Given the description of an element on the screen output the (x, y) to click on. 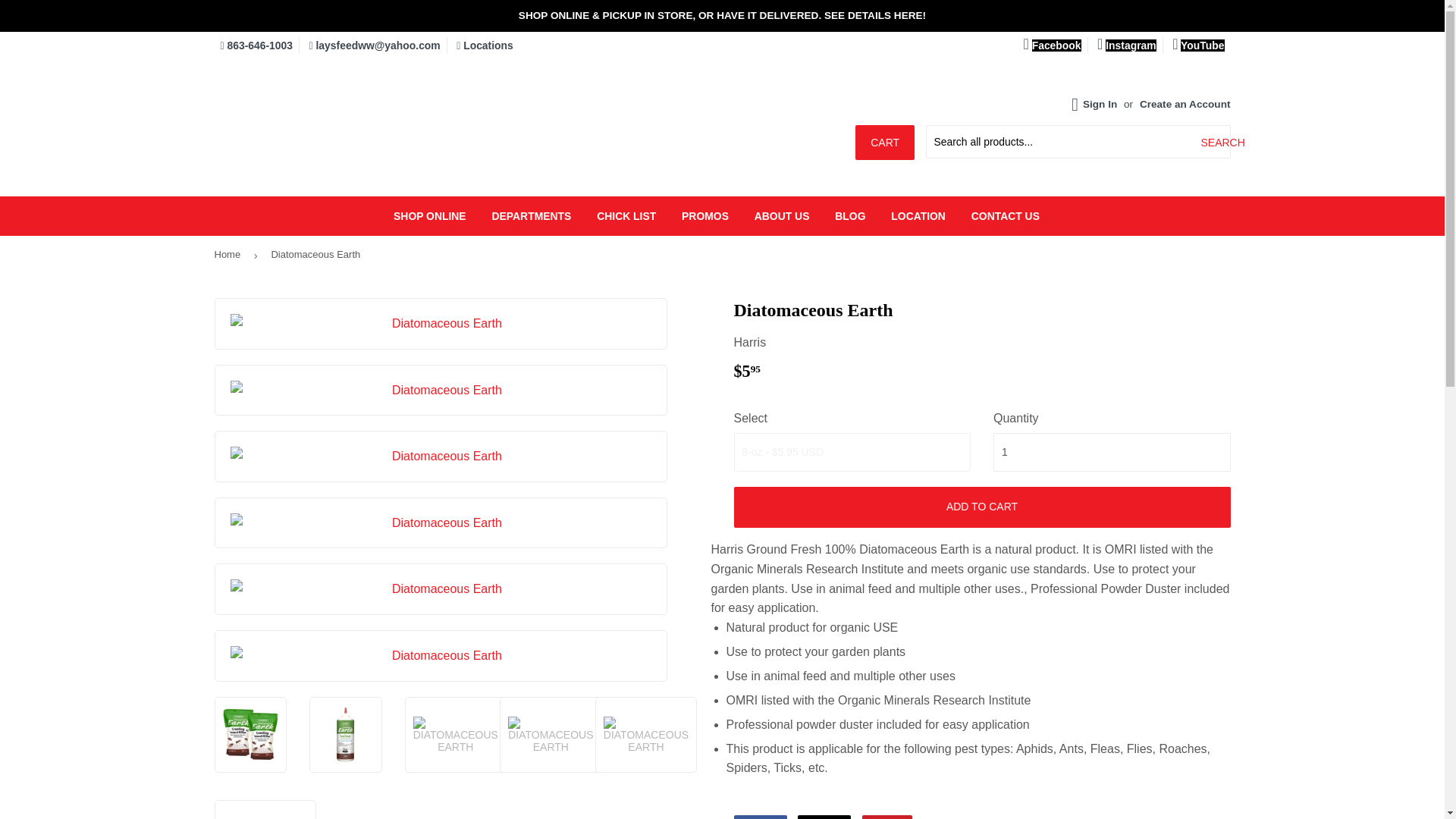
Share on Facebook (760, 816)
Open Product Zoom (441, 456)
 863-646-1003 (255, 45)
Create an Account (1185, 103)
Open Product Zoom (441, 588)
Instagram (1126, 45)
Open Product Zoom (441, 390)
CART (885, 142)
YouTube (1198, 45)
1 (1111, 452)
